Given the description of an element on the screen output the (x, y) to click on. 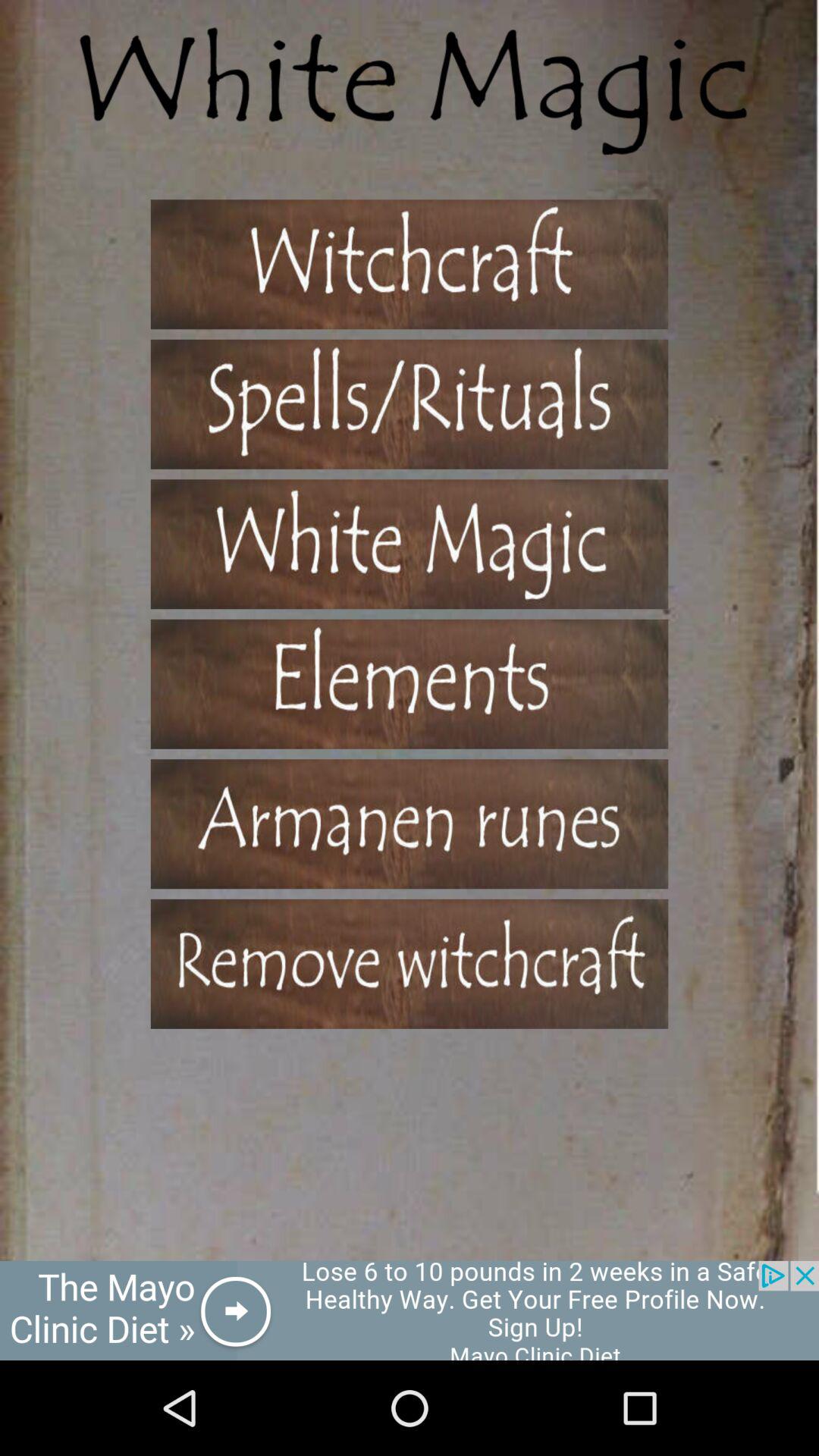
view category (409, 684)
